Given the description of an element on the screen output the (x, y) to click on. 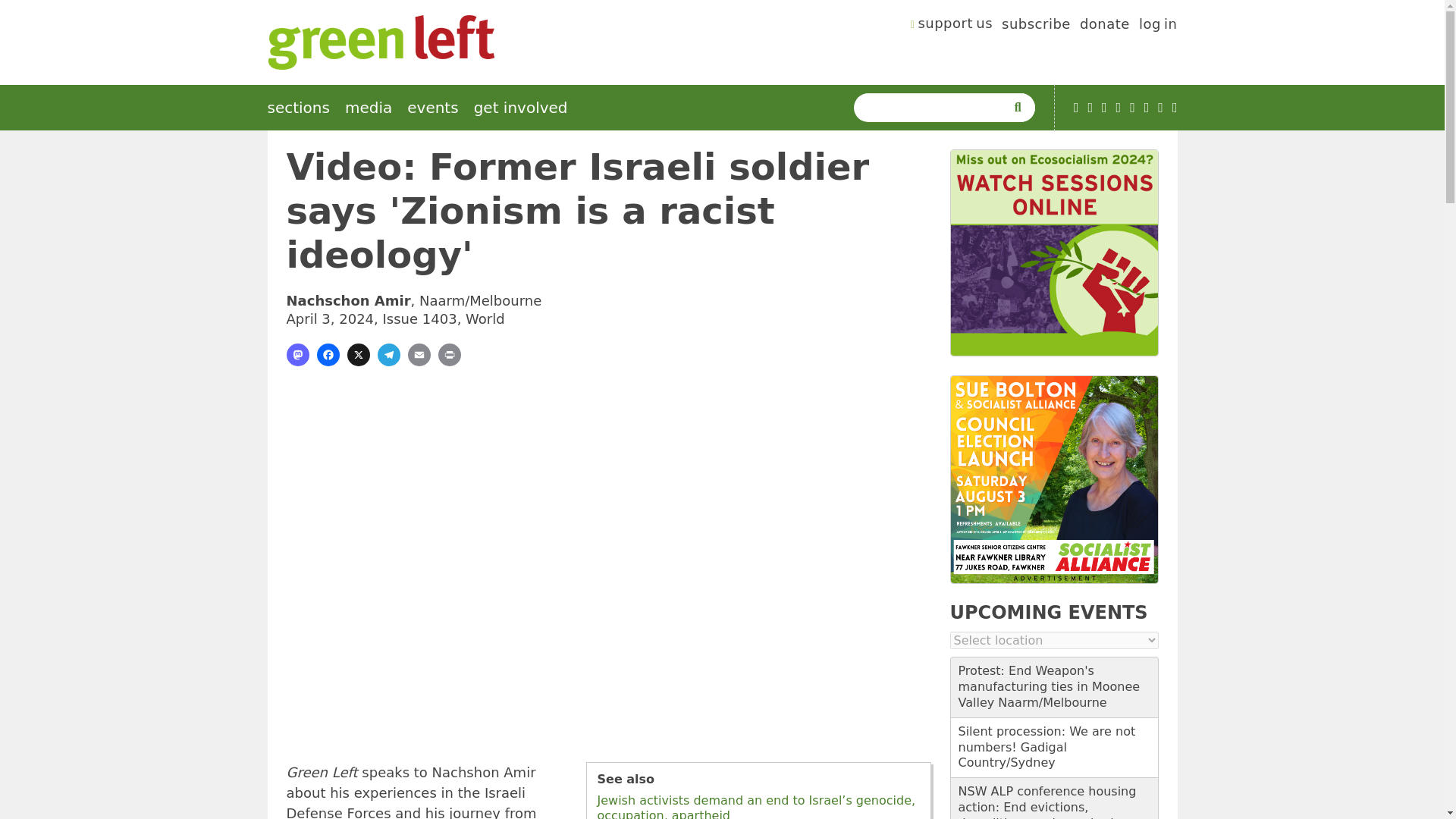
Share on Mastondon (297, 354)
YouTube (1076, 107)
donate (1104, 26)
Podcast (1090, 107)
Share on Telegram (388, 354)
Share on Facebook (328, 354)
share via email (418, 354)
Enter the terms you wish to search for. (932, 107)
events (432, 107)
Print (449, 354)
subscribe (1035, 26)
support us (951, 26)
Share on X (358, 354)
Facebook (1104, 107)
log in (1157, 26)
